Given the description of an element on the screen output the (x, y) to click on. 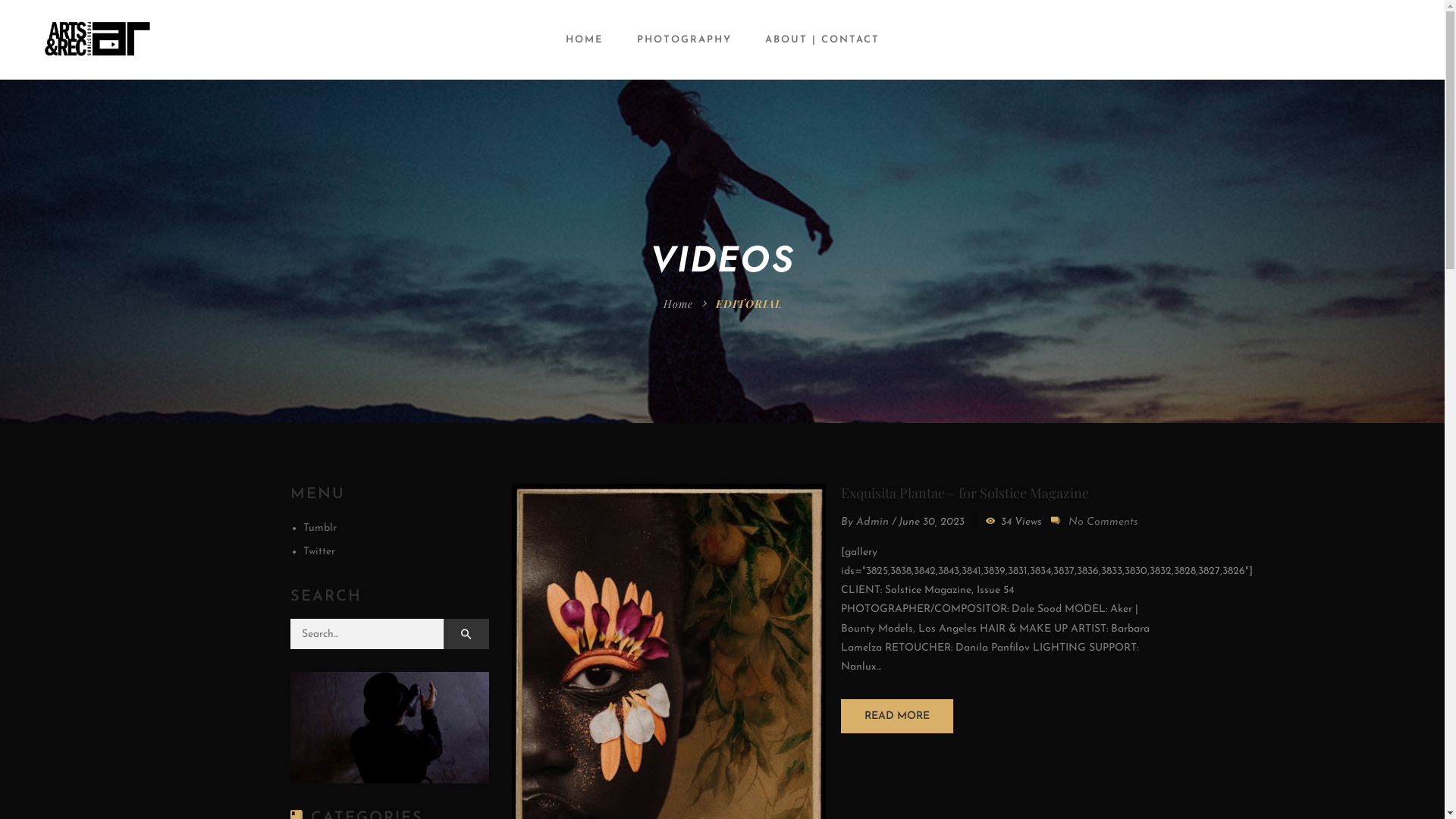
PHOTOGRAPHY Element type: text (683, 39)
Tumblr Element type: text (319, 527)
READ MORE Element type: text (896, 716)
HOME Element type: text (584, 39)
Search Element type: text (466, 633)
Home Element type: text (677, 303)
No Comments Element type: text (1103, 521)
ABOUT | CONTACT Element type: text (821, 39)
Admin Element type: text (872, 521)
Twitter Element type: text (319, 551)
